Given the description of an element on the screen output the (x, y) to click on. 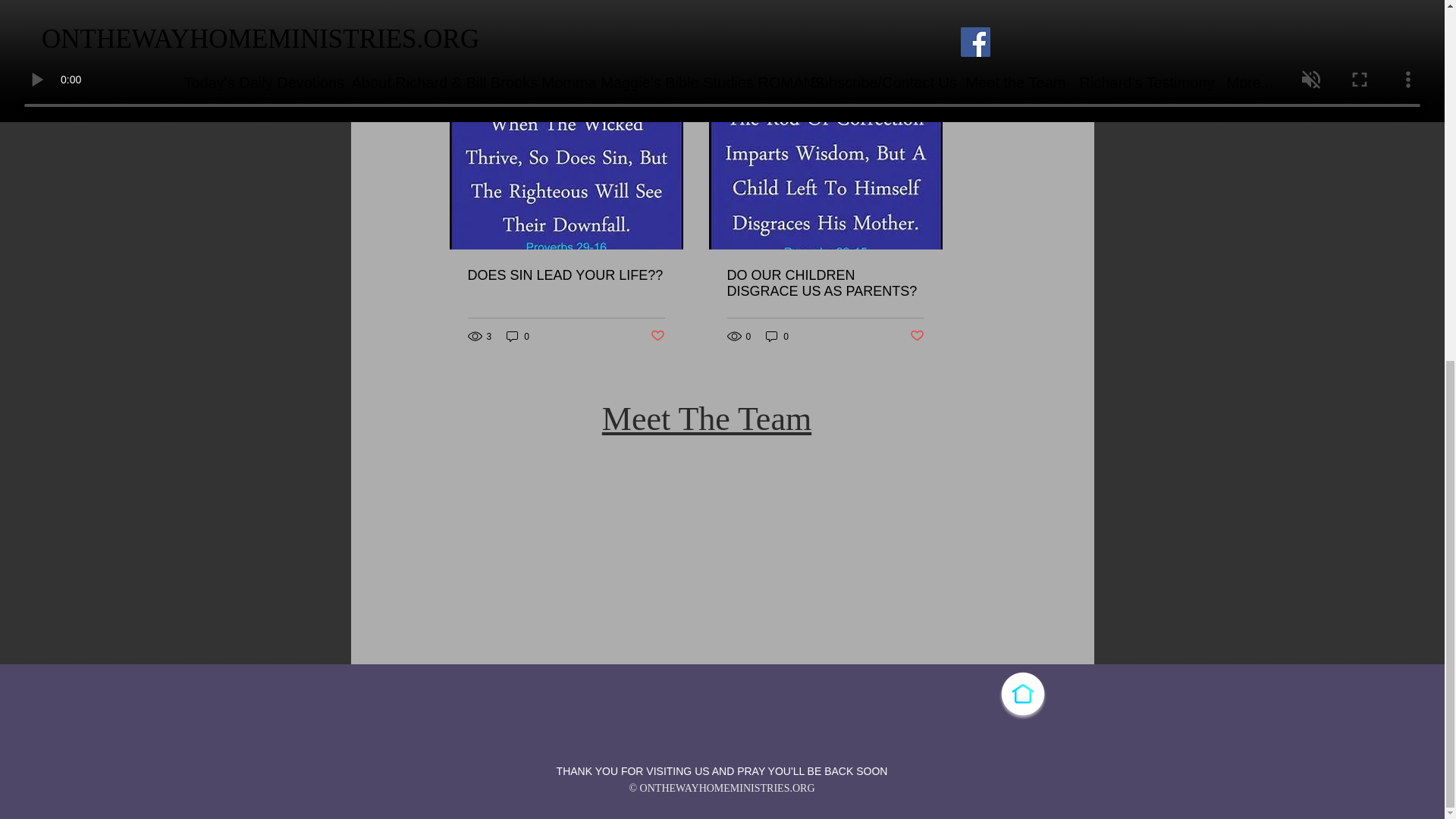
Post not marked as liked (911, 31)
DOES SIN LEAD YOUR LIFE?? (565, 275)
Post not marked as liked (917, 335)
0 (777, 336)
DO OUR CHILDREN DISGRACE US AS PARENTS? (824, 283)
See All (925, 92)
Post not marked as liked (657, 335)
0 (518, 336)
Meet The Team (706, 418)
